Given the description of an element on the screen output the (x, y) to click on. 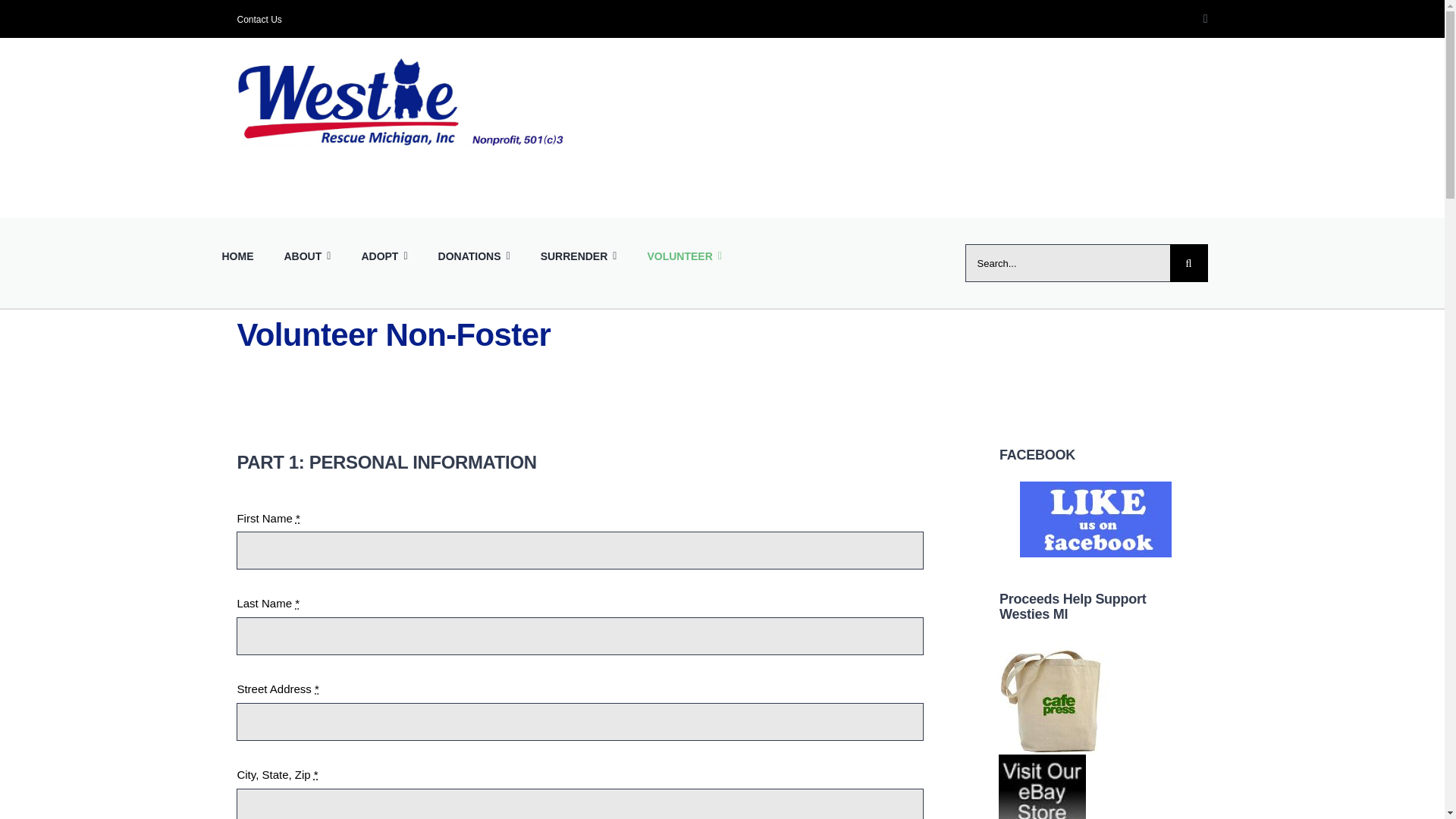
Contact Us (258, 19)
ABOUT (306, 253)
HOME (237, 253)
